Given the description of an element on the screen output the (x, y) to click on. 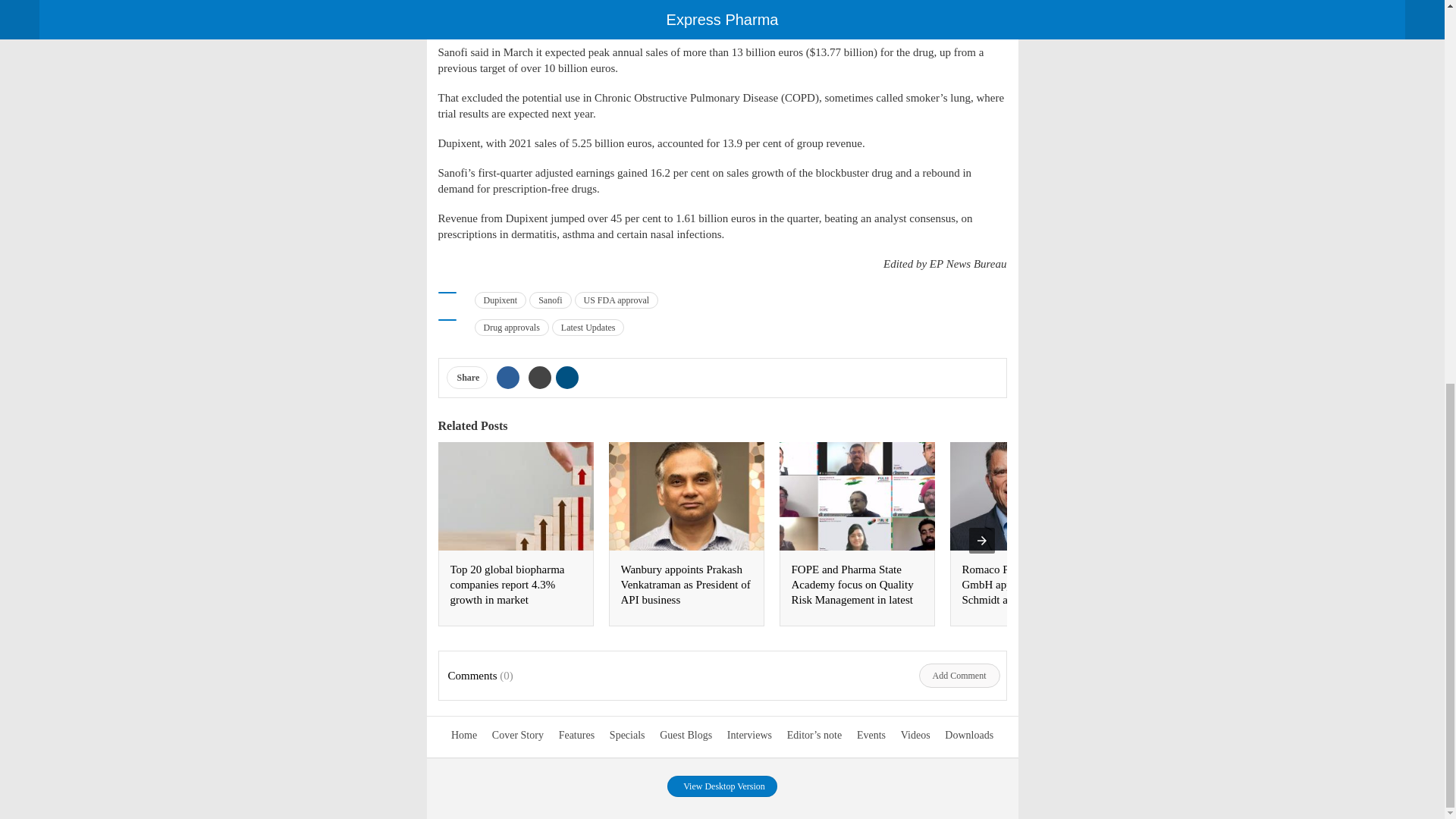
Add Comment (959, 675)
Drug approvals (511, 327)
US FDA approval (617, 299)
Latest Updates (587, 327)
Home (464, 735)
Dupixent (500, 299)
Sanofi (549, 299)
